Given the description of an element on the screen output the (x, y) to click on. 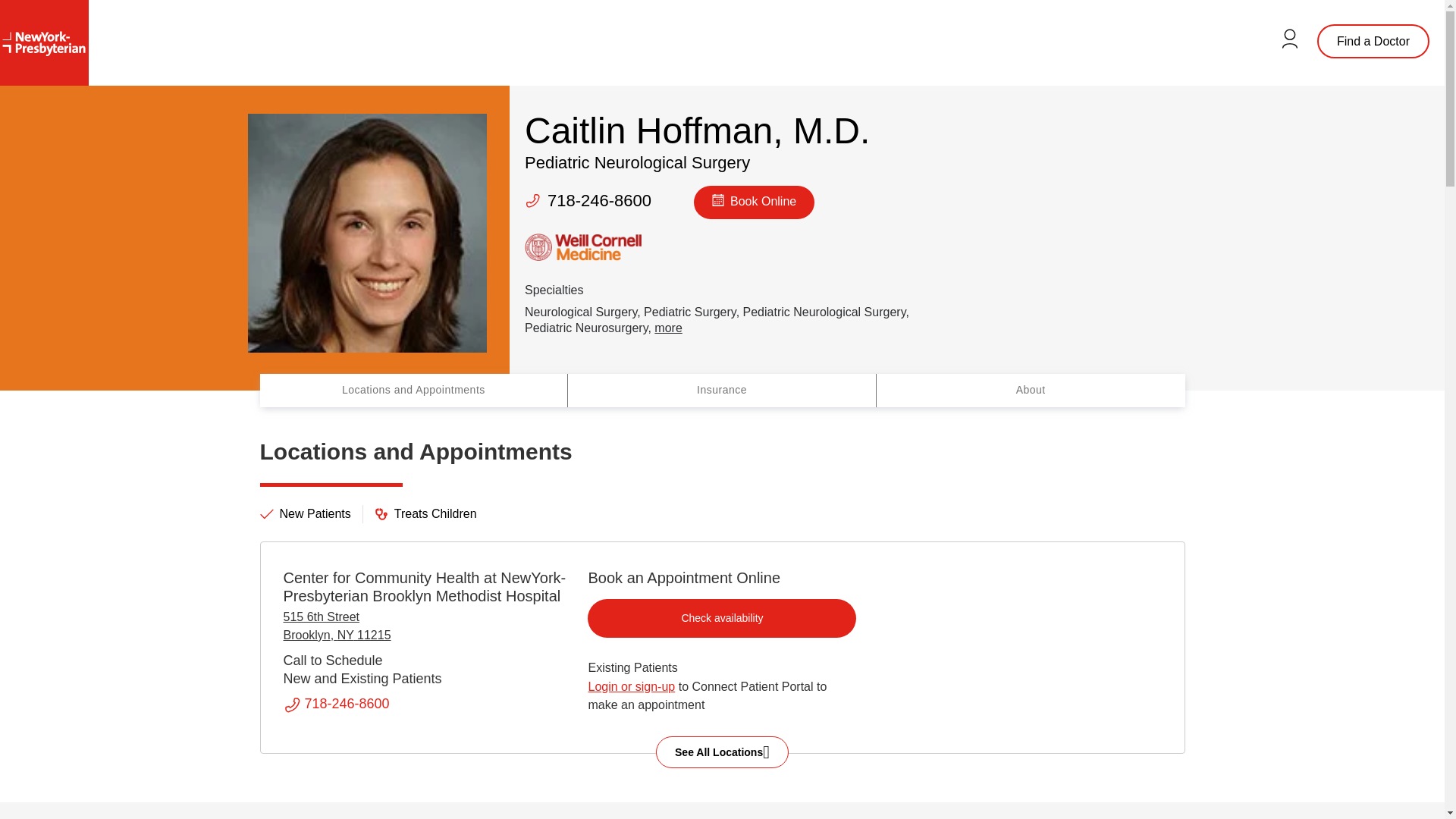
718-246-8600 (347, 703)
Find a Doctor (1373, 40)
New York (345, 634)
About (1030, 390)
more (667, 328)
Locations and Appointments (413, 390)
718-246-8600 (598, 199)
Insurance (721, 390)
Book Online (753, 202)
